Given the description of an element on the screen output the (x, y) to click on. 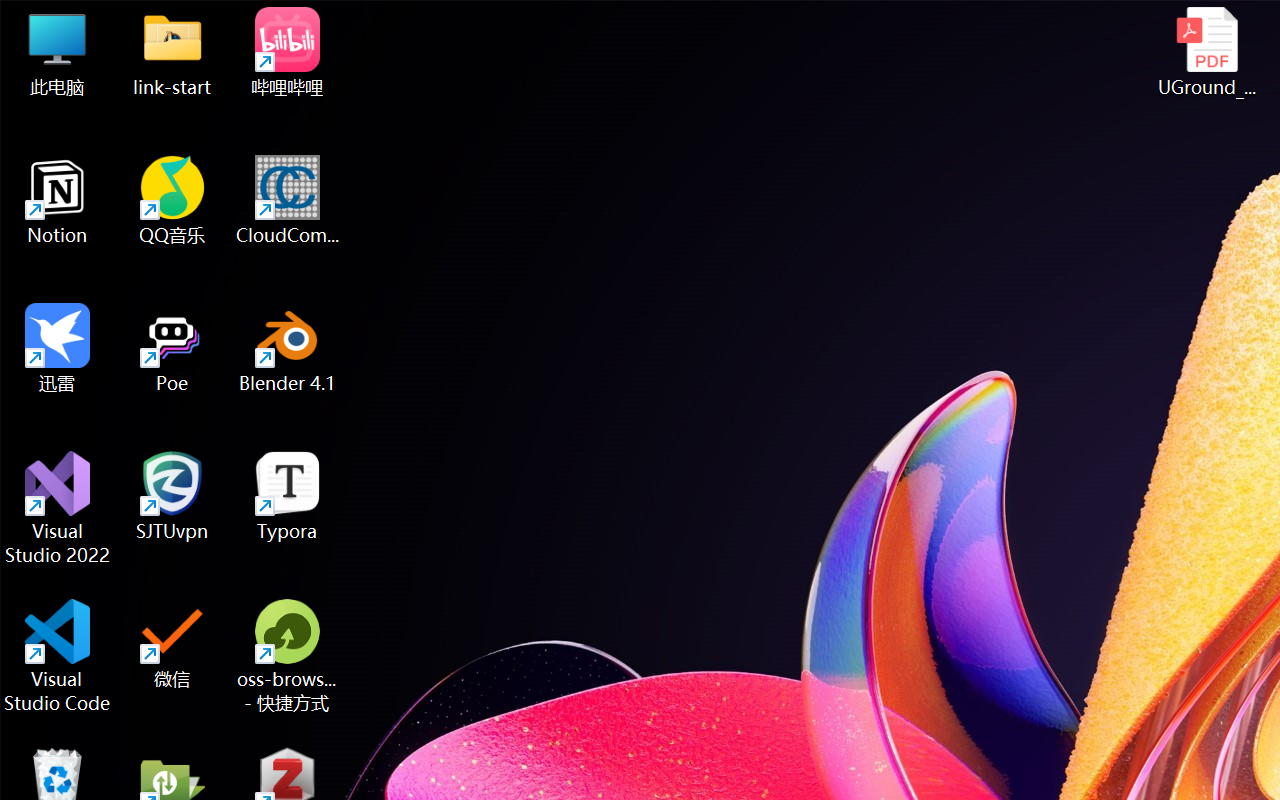
CloudCompare (287, 200)
Visual Studio Code (57, 656)
Typora (287, 496)
Visual Studio 2022 (57, 508)
SJTUvpn (172, 496)
Blender 4.1 (287, 348)
UGround_paper.pdf (1206, 52)
